Given the description of an element on the screen output the (x, y) to click on. 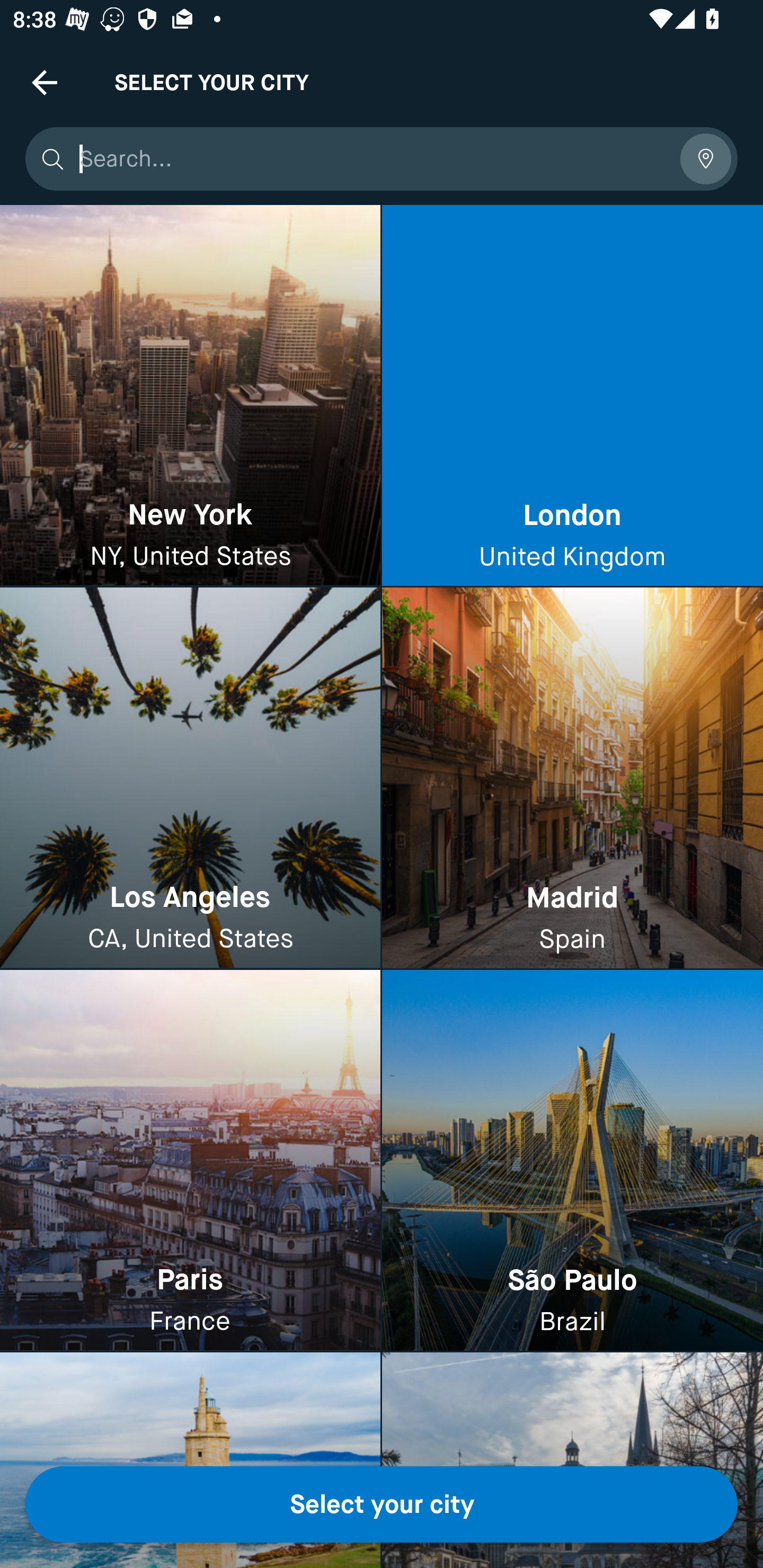
Navigate up (44, 82)
Search... (373, 159)
New York NY, United States (190, 395)
London United Kingdom (572, 395)
Los Angeles CA, United States (190, 778)
Madrid Spain (572, 778)
Paris France (190, 1160)
São Paulo Brazil (572, 1160)
Select your city (381, 1504)
